Given the description of an element on the screen output the (x, y) to click on. 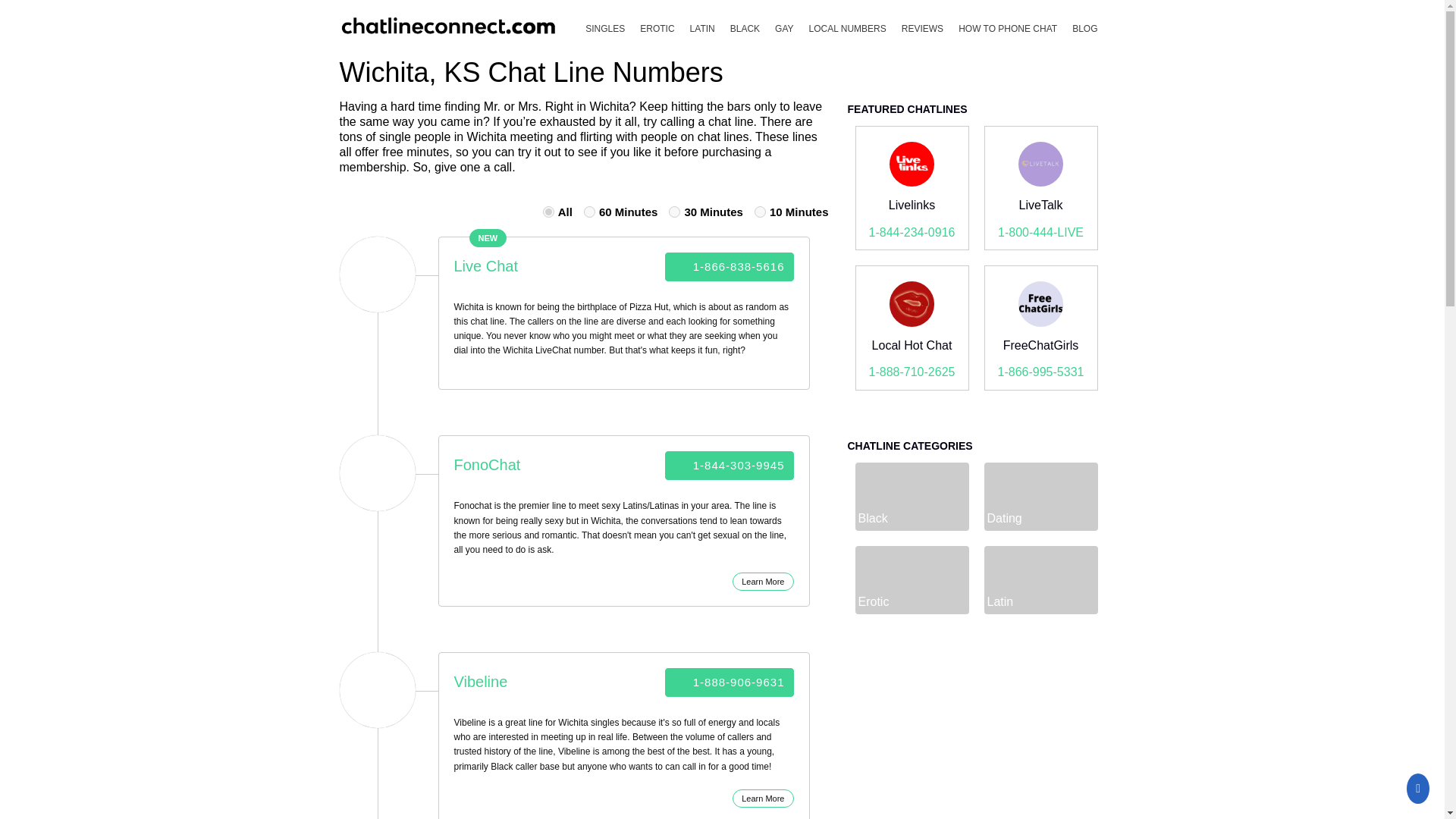
.10-minutes (759, 211)
.60-minutes (589, 211)
GAY (783, 28)
LOCAL NUMBERS (847, 28)
Black (744, 28)
Local Numbers (847, 28)
Latin (702, 28)
SINGLES (604, 28)
EROTIC (656, 28)
REVIEWS (921, 28)
Gay (783, 28)
Erotic (656, 28)
LATIN (702, 28)
.30-minutes (673, 211)
BLACK (744, 28)
